Given the description of an element on the screen output the (x, y) to click on. 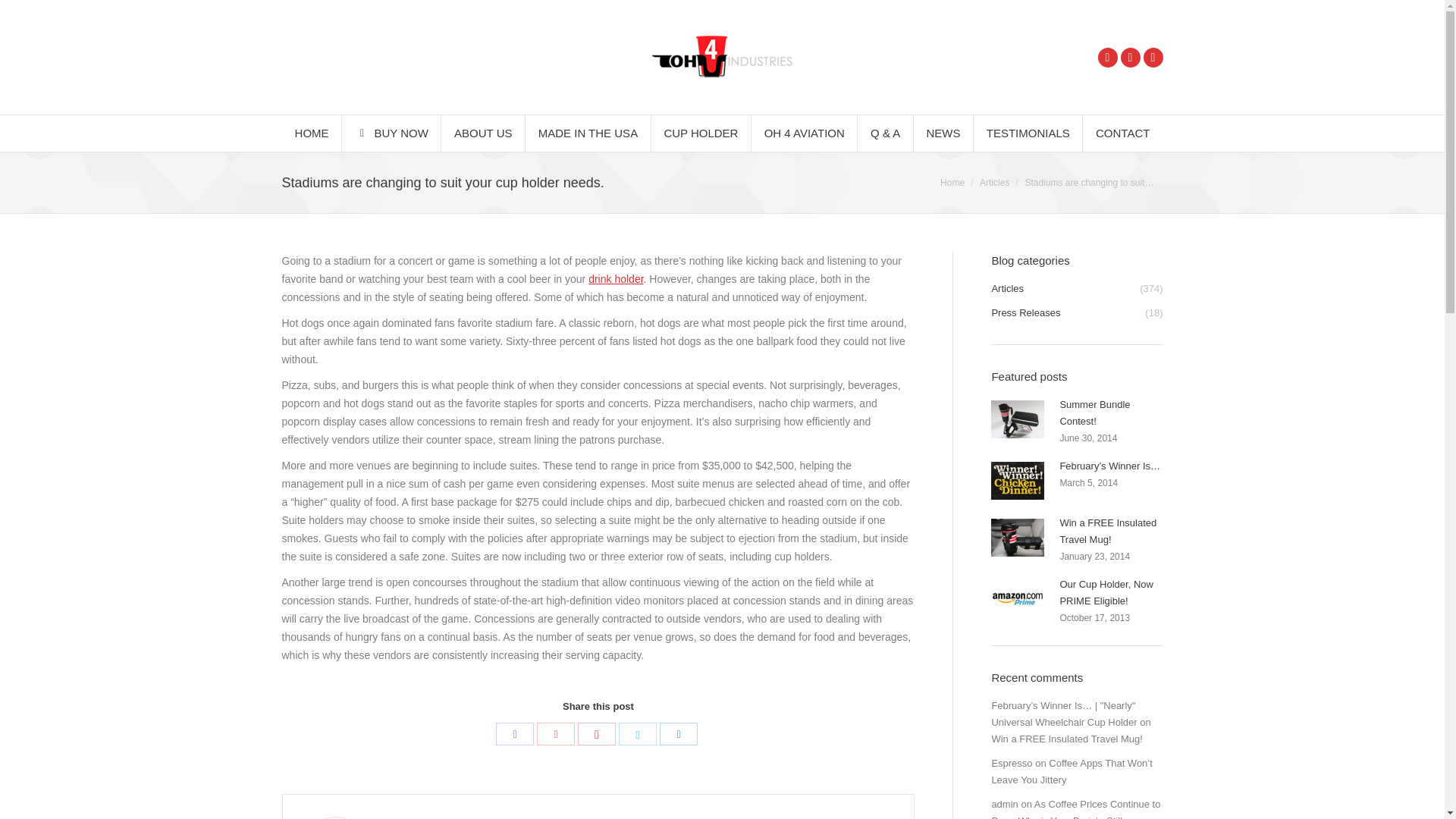
Pinterest (596, 733)
TESTIMONIALS (1028, 132)
Share with Pinterest (596, 733)
Facebook (515, 733)
LinkedIn (678, 733)
CONTACT (1123, 132)
OH 4 AVIATION (804, 132)
Share with Facebook (515, 733)
Mail (1152, 56)
Facebook (1107, 56)
ABOUT US (482, 132)
Articles (994, 182)
HOME (312, 132)
CUP HOLDER (700, 132)
drink holder (615, 278)
